Given the description of an element on the screen output the (x, y) to click on. 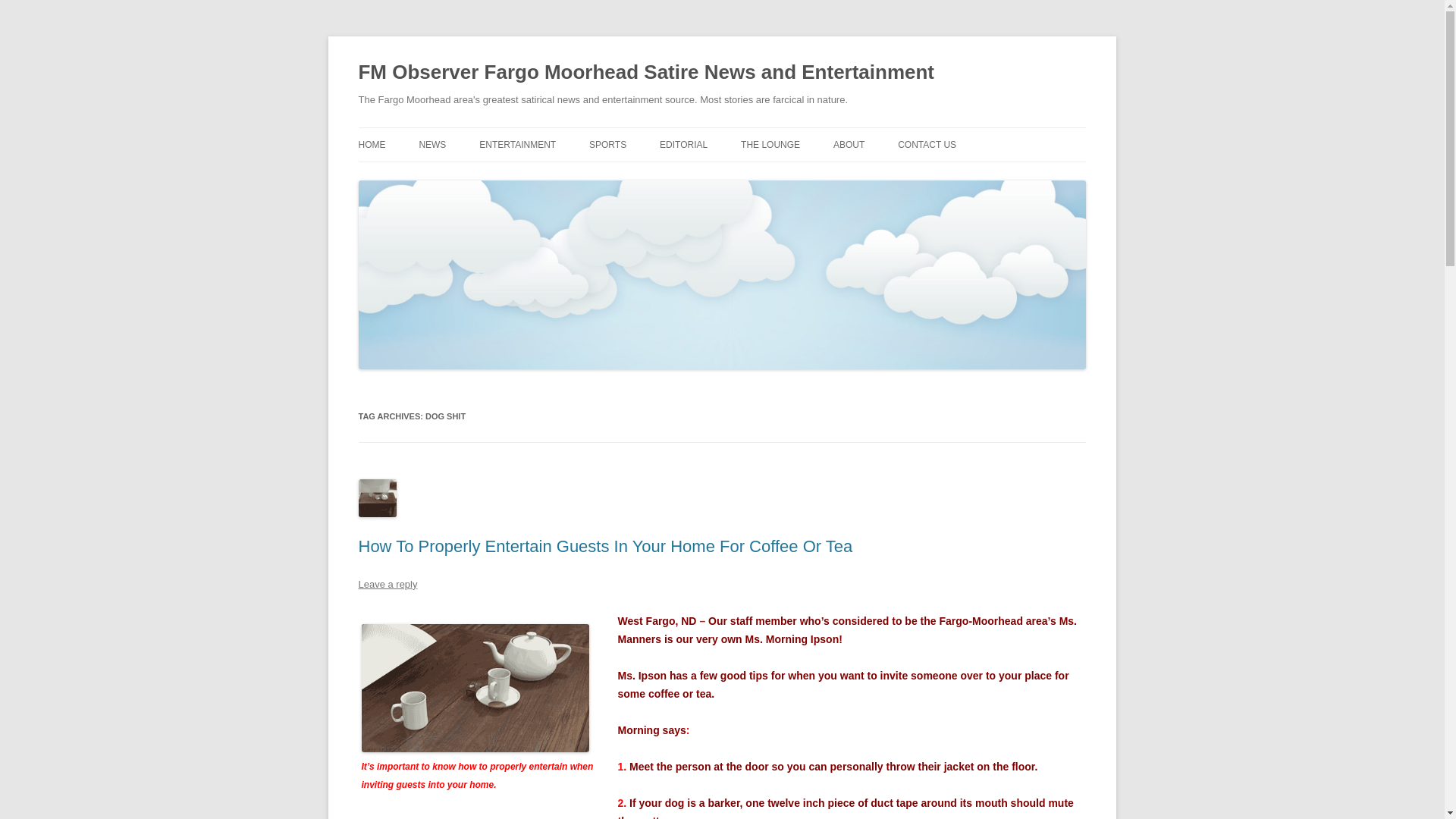
RECIPES FOR SUCCESS (734, 176)
THE LOUNGE (770, 144)
ENTERTAINMENT (517, 144)
FM Observer Fargo Moorhead Satire News and Entertainment (646, 72)
ACTION (665, 176)
CELEBRITY (554, 176)
SPORTS (607, 144)
EDITORIAL (683, 144)
LOCAL (494, 176)
GIFS (816, 176)
